Given the description of an element on the screen output the (x, y) to click on. 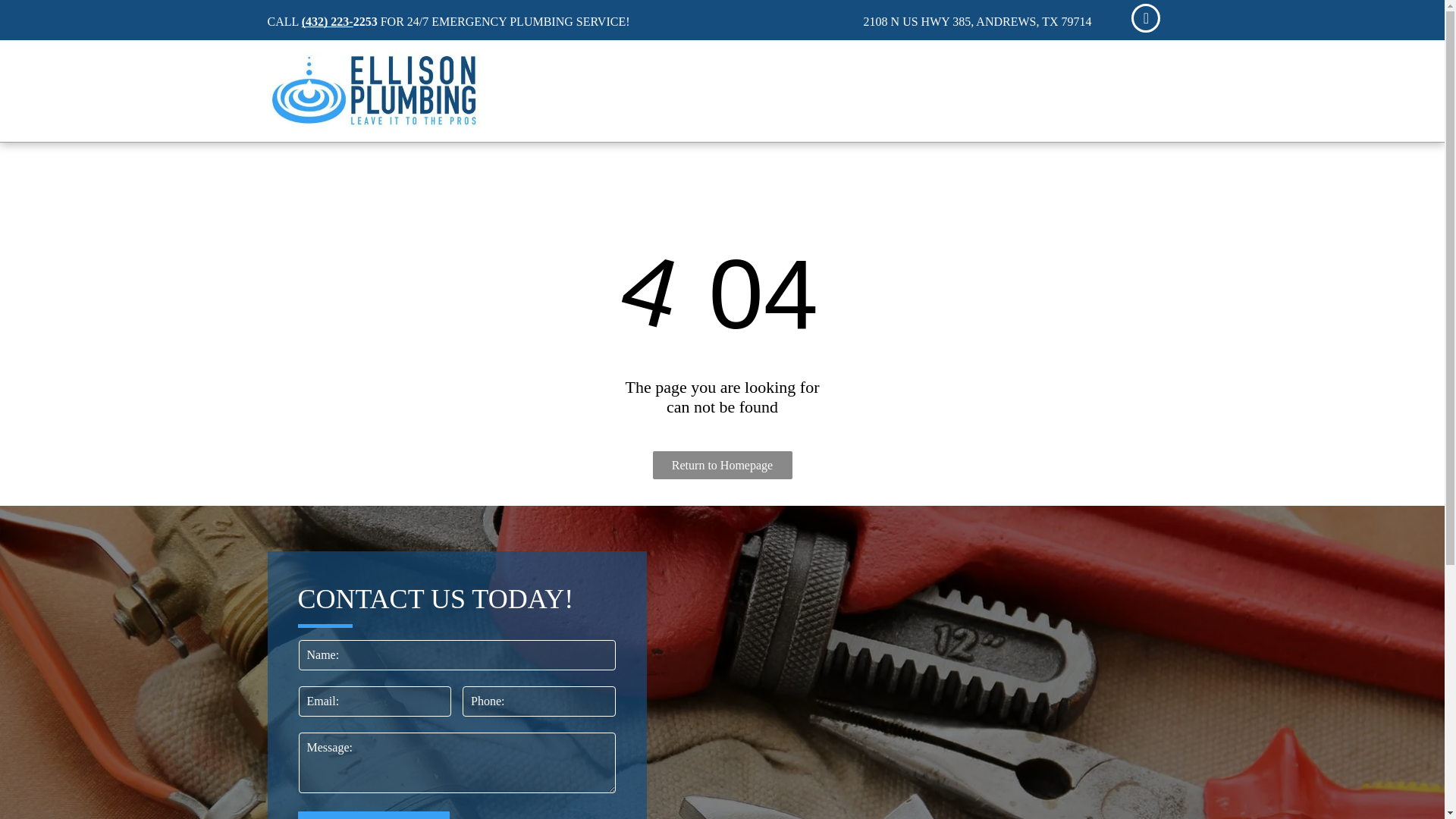
SEND (373, 815)
SEND (373, 815)
Return to Homepage (722, 465)
